Given the description of an element on the screen output the (x, y) to click on. 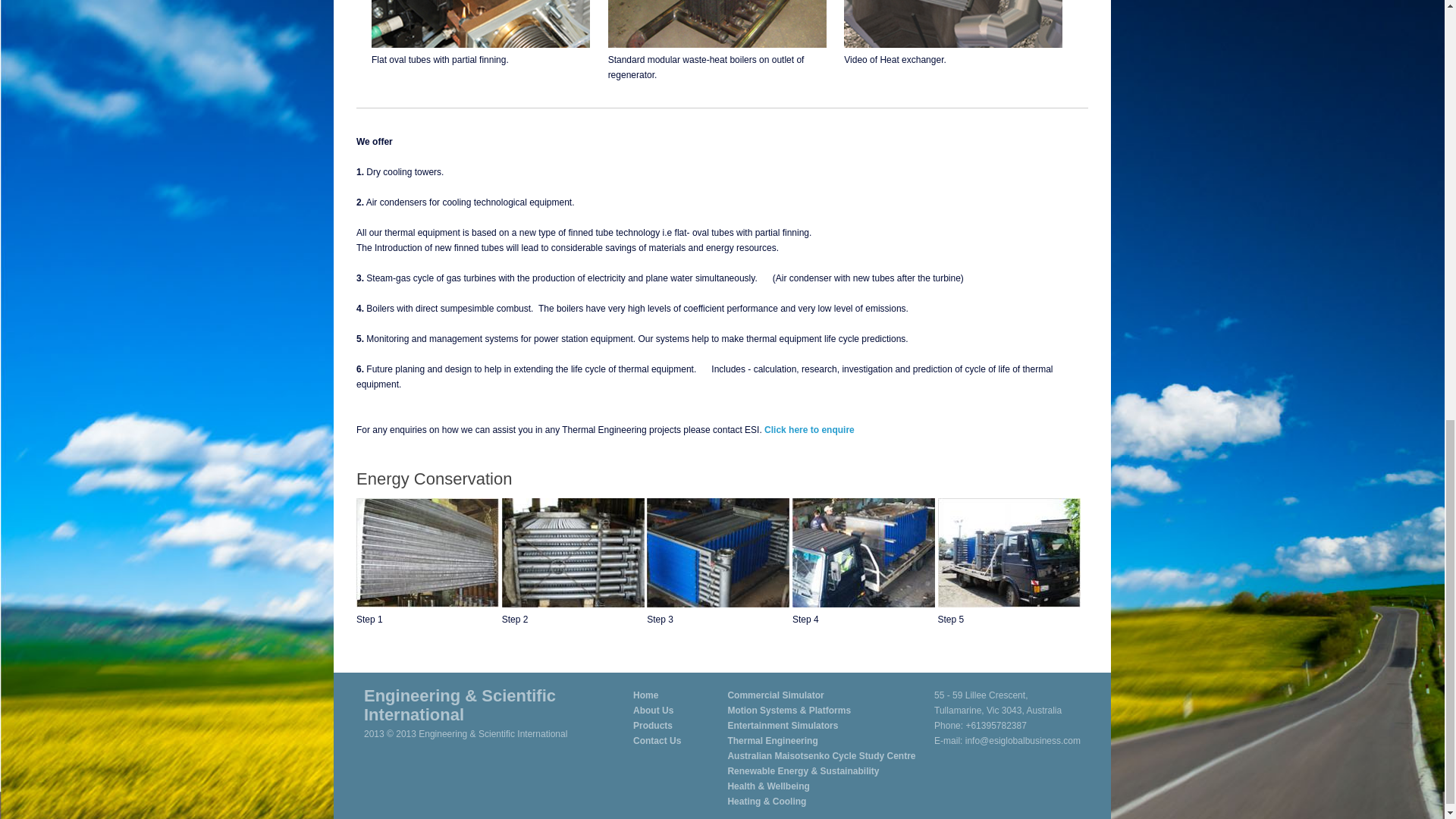
Thermal Engineering (771, 740)
Home (645, 695)
About Us (652, 710)
Contact Us (657, 740)
Our Products (652, 725)
About Us (652, 710)
Australian Maisotsenko Cycle Study Centre (820, 756)
Click here to enquire (809, 429)
Entertainment Simulators (782, 725)
Products (652, 725)
Home (645, 695)
Commercial Simulator (775, 695)
